Given the description of an element on the screen output the (x, y) to click on. 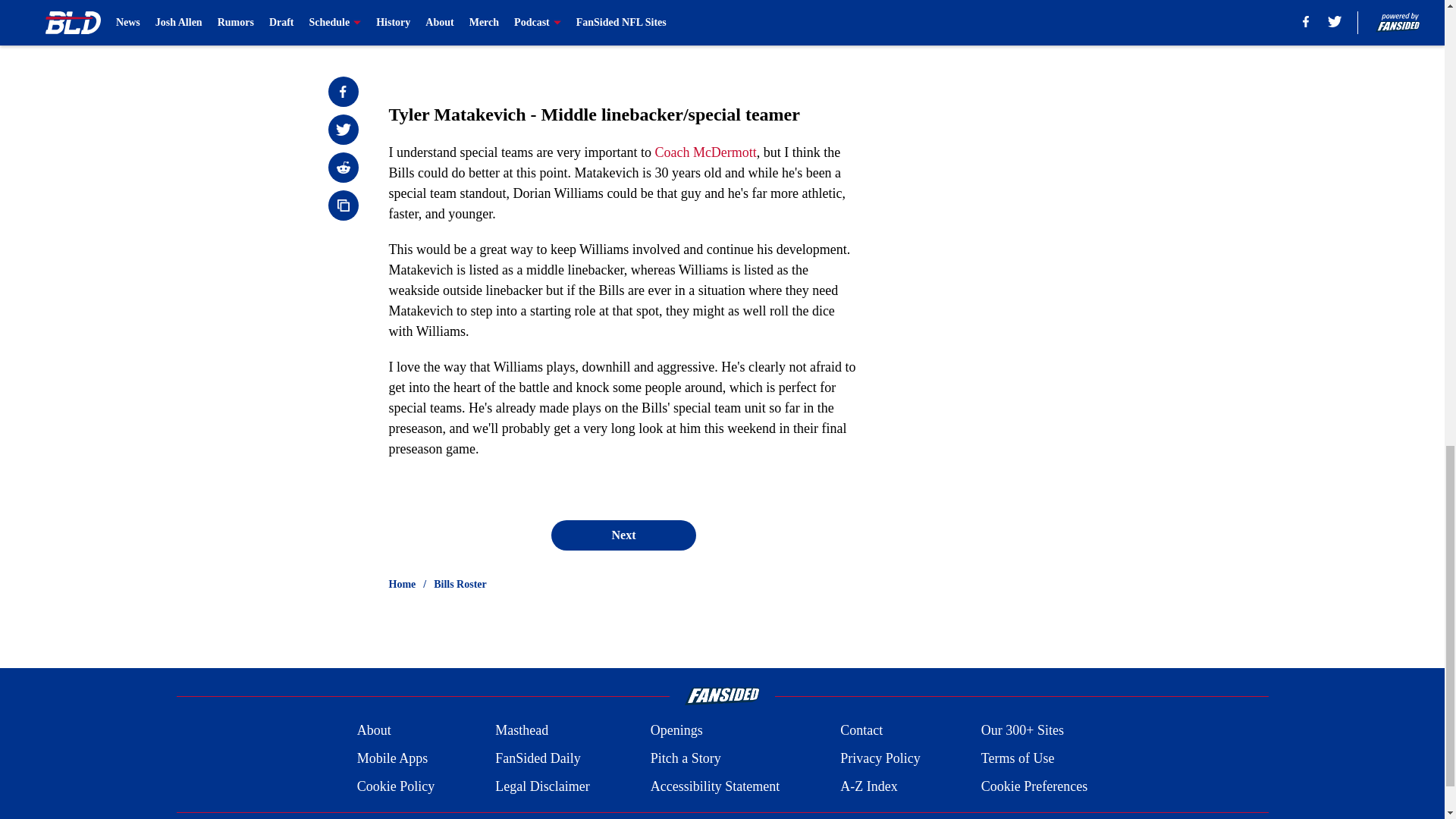
Terms of Use (1017, 758)
Home (401, 584)
Coach McDermott (704, 151)
Next (622, 535)
Contact (861, 730)
Pitch a Story (685, 758)
Bills Roster (459, 584)
FanSided Daily (537, 758)
Masthead (521, 730)
Cookie Policy (395, 786)
About (373, 730)
Mobile Apps (392, 758)
Privacy Policy (880, 758)
Openings (676, 730)
